Given the description of an element on the screen output the (x, y) to click on. 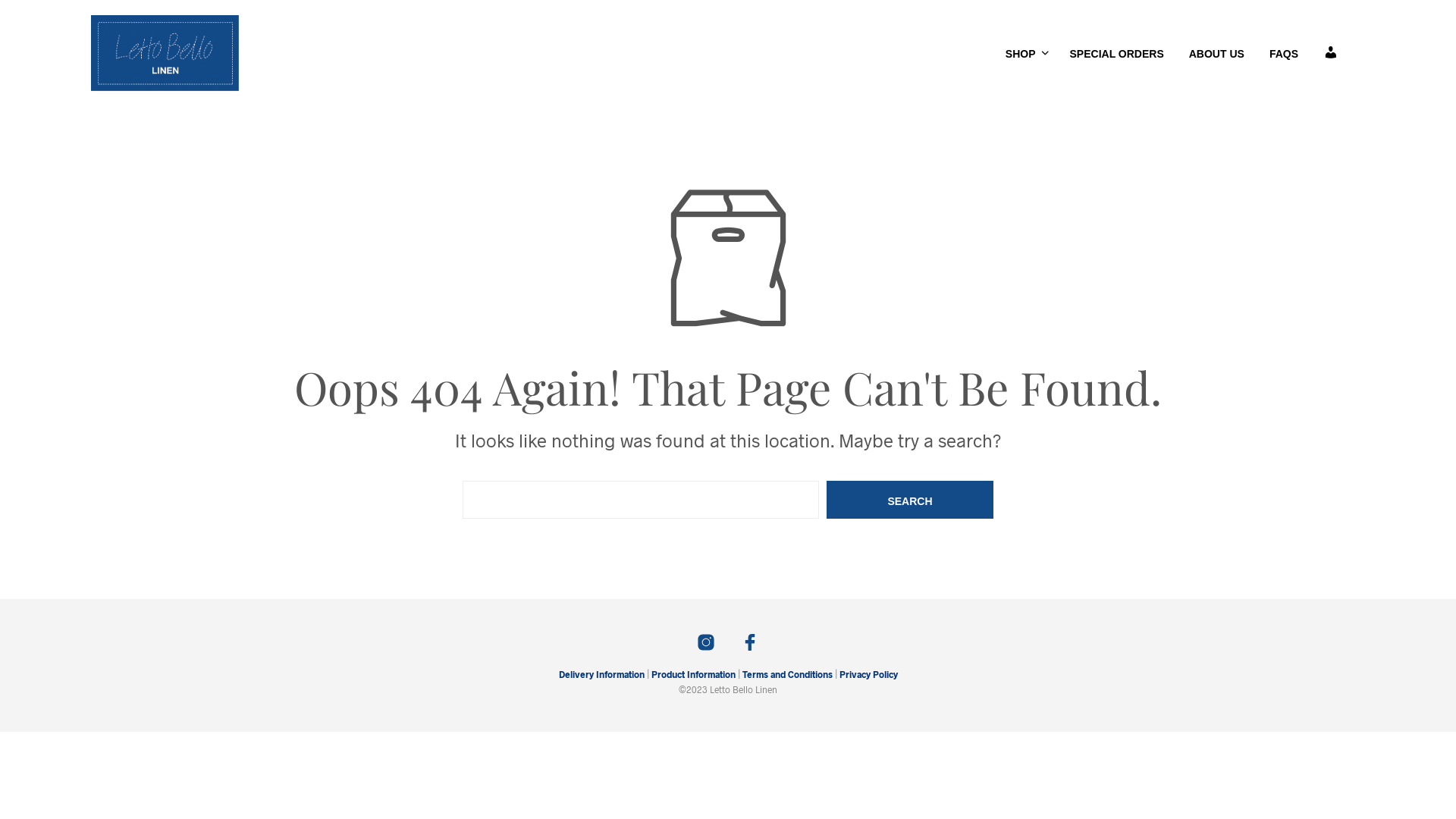
ACCOUNT Element type: text (1330, 54)
Product Information Element type: text (692, 674)
Terms and Conditions Element type: text (786, 674)
Privacy Policy Element type: text (867, 674)
SPECIAL ORDERS Element type: text (1116, 54)
ABOUT US Element type: text (1216, 54)
SHOP Element type: text (1020, 54)
FAQS Element type: text (1283, 54)
Search Element type: text (909, 499)
Delivery Information Element type: text (600, 674)
